Given the description of an element on the screen output the (x, y) to click on. 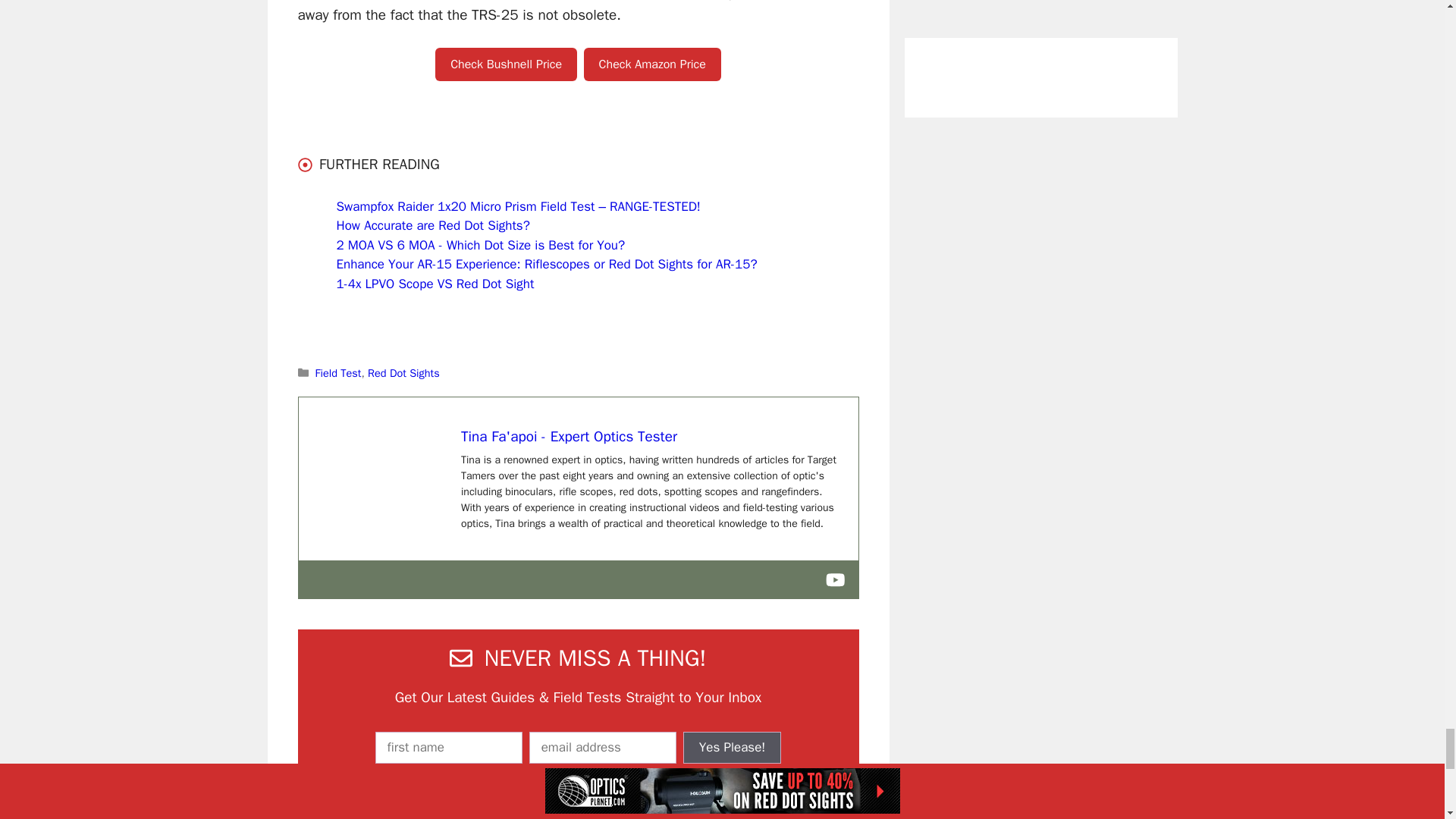
Yes Please! (731, 747)
